Given the description of an element on the screen output the (x, y) to click on. 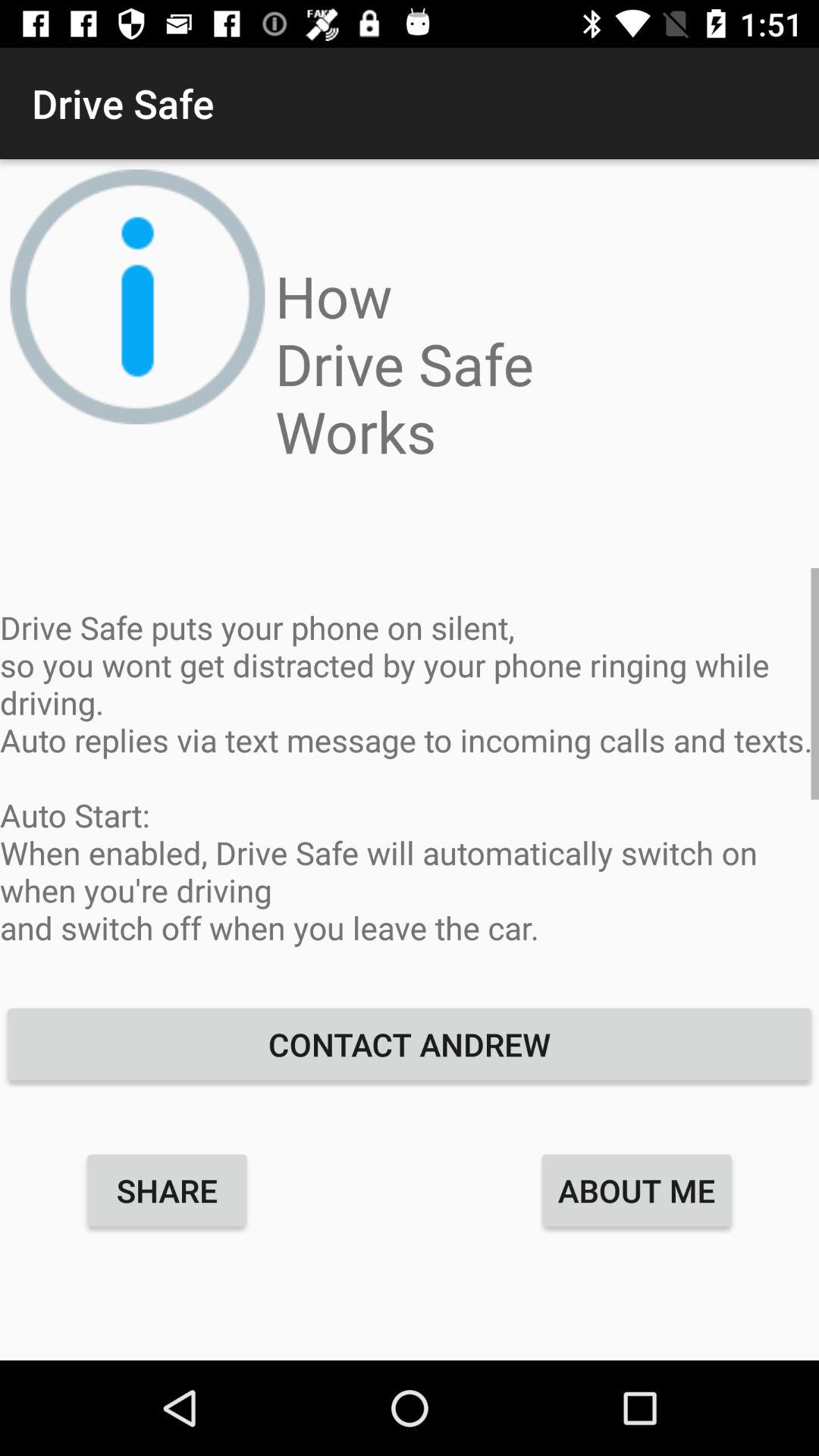
open item below the contact andrew (166, 1190)
